Given the description of an element on the screen output the (x, y) to click on. 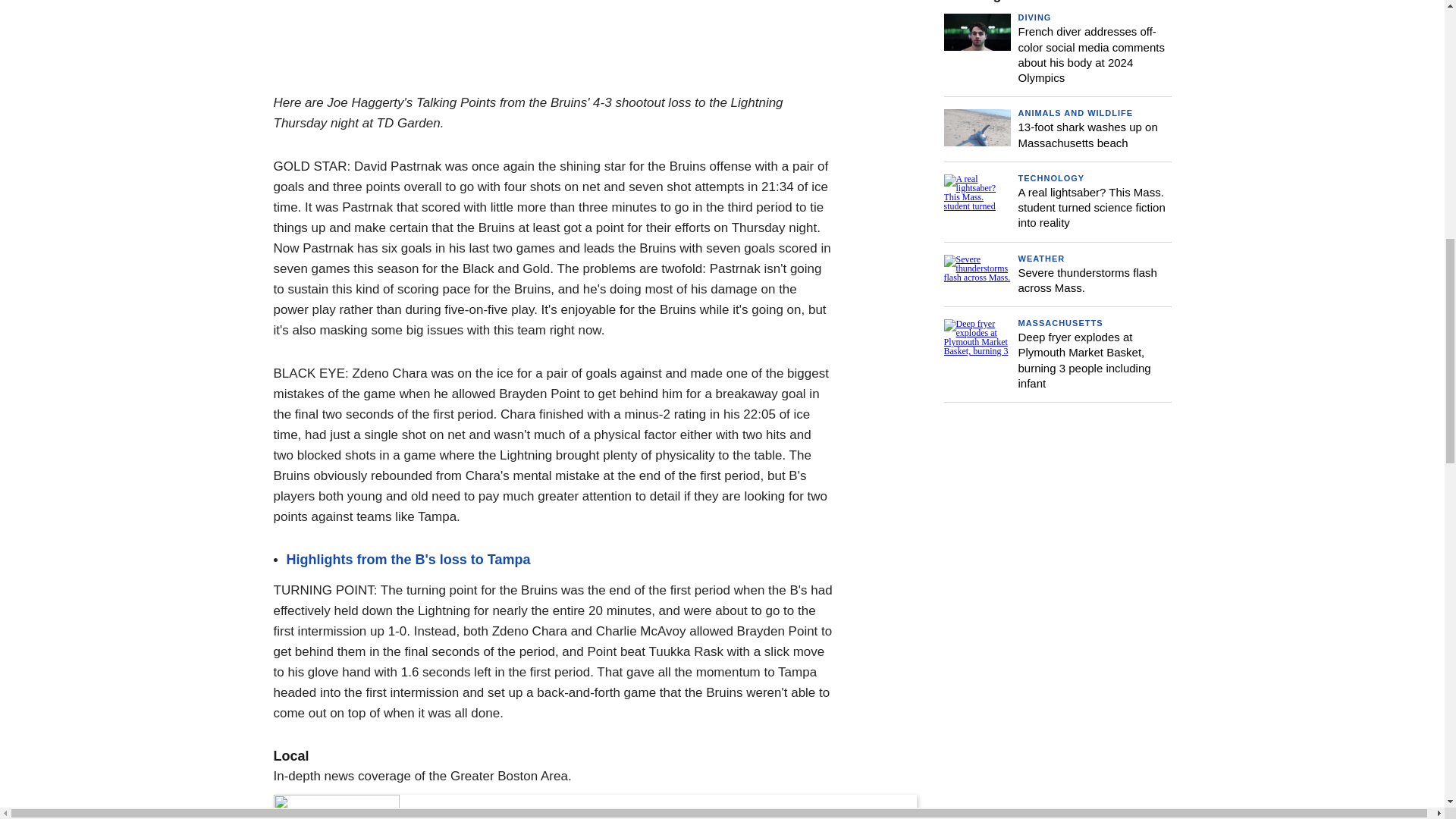
2024 PARIS OLYMPICS (456, 817)
Highlights from the B's loss to Tampa (408, 559)
